Given the description of an element on the screen output the (x, y) to click on. 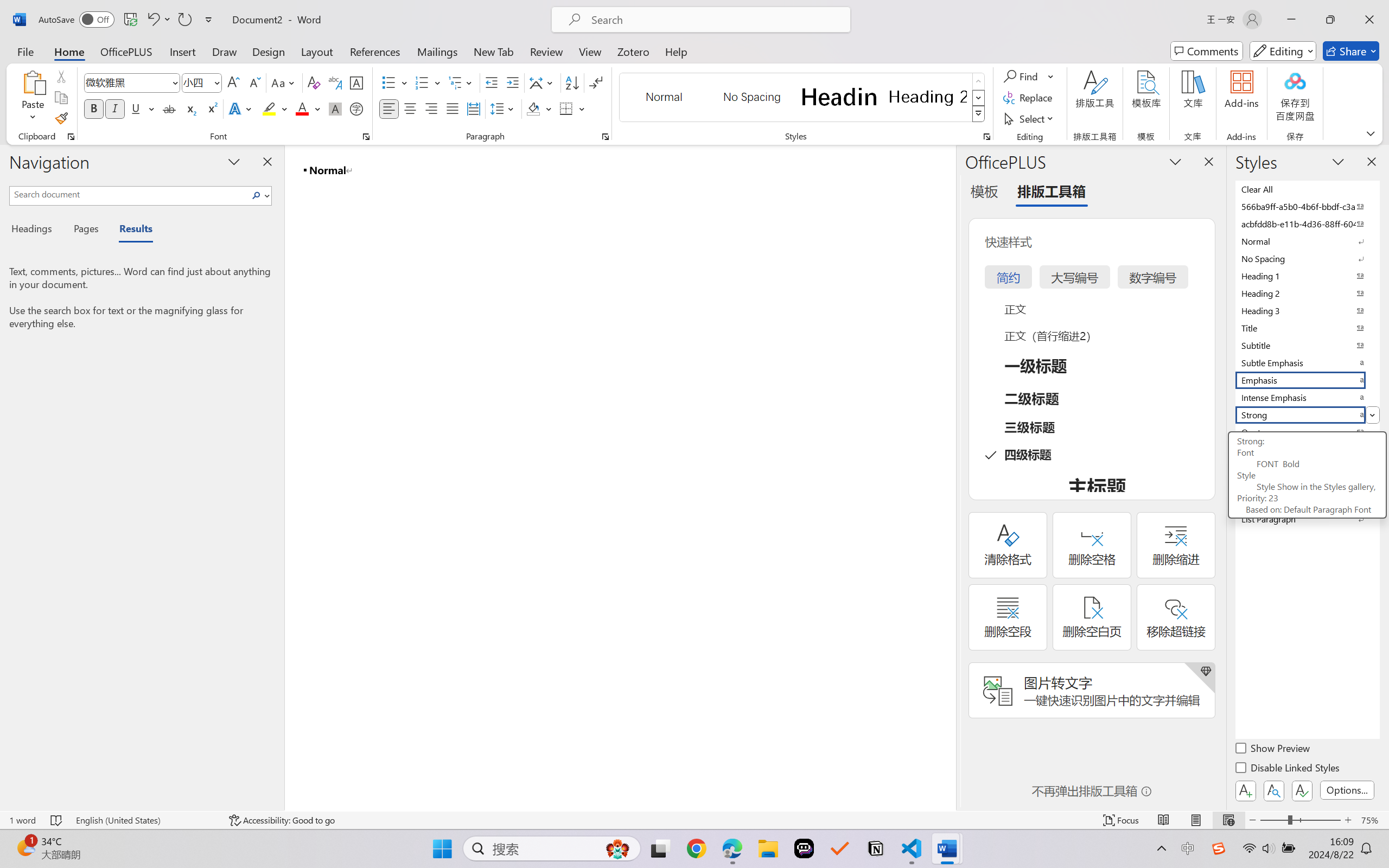
Insert (182, 51)
Disable Linked Styles (1287, 769)
Close (1369, 19)
Mailings (437, 51)
Clear Formatting (313, 82)
Undo Style (158, 19)
Normal (1306, 240)
Repeat Doc Close (184, 19)
Text Effects and Typography (241, 108)
List Paragraph (1306, 518)
Book Title (1306, 501)
